Given the description of an element on the screen output the (x, y) to click on. 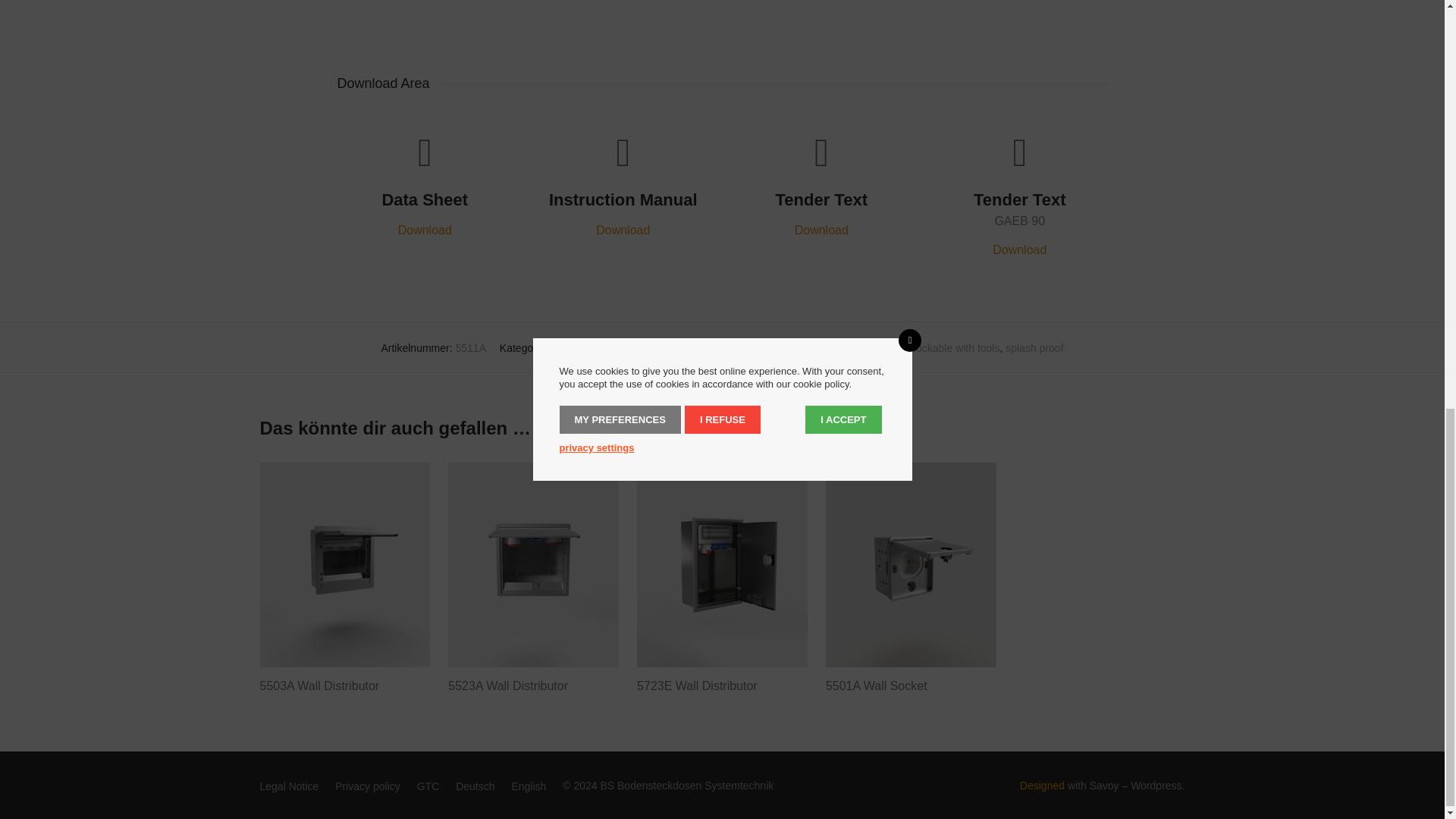
Download (424, 229)
splash proof (1034, 347)
5503A Wall Distributor (318, 685)
lockable with tools (957, 347)
Download (1019, 249)
hinged lid (884, 347)
Download (821, 229)
ball impact resistant (809, 347)
Download (622, 229)
5523A Wall Distributor (507, 685)
